Given the description of an element on the screen output the (x, y) to click on. 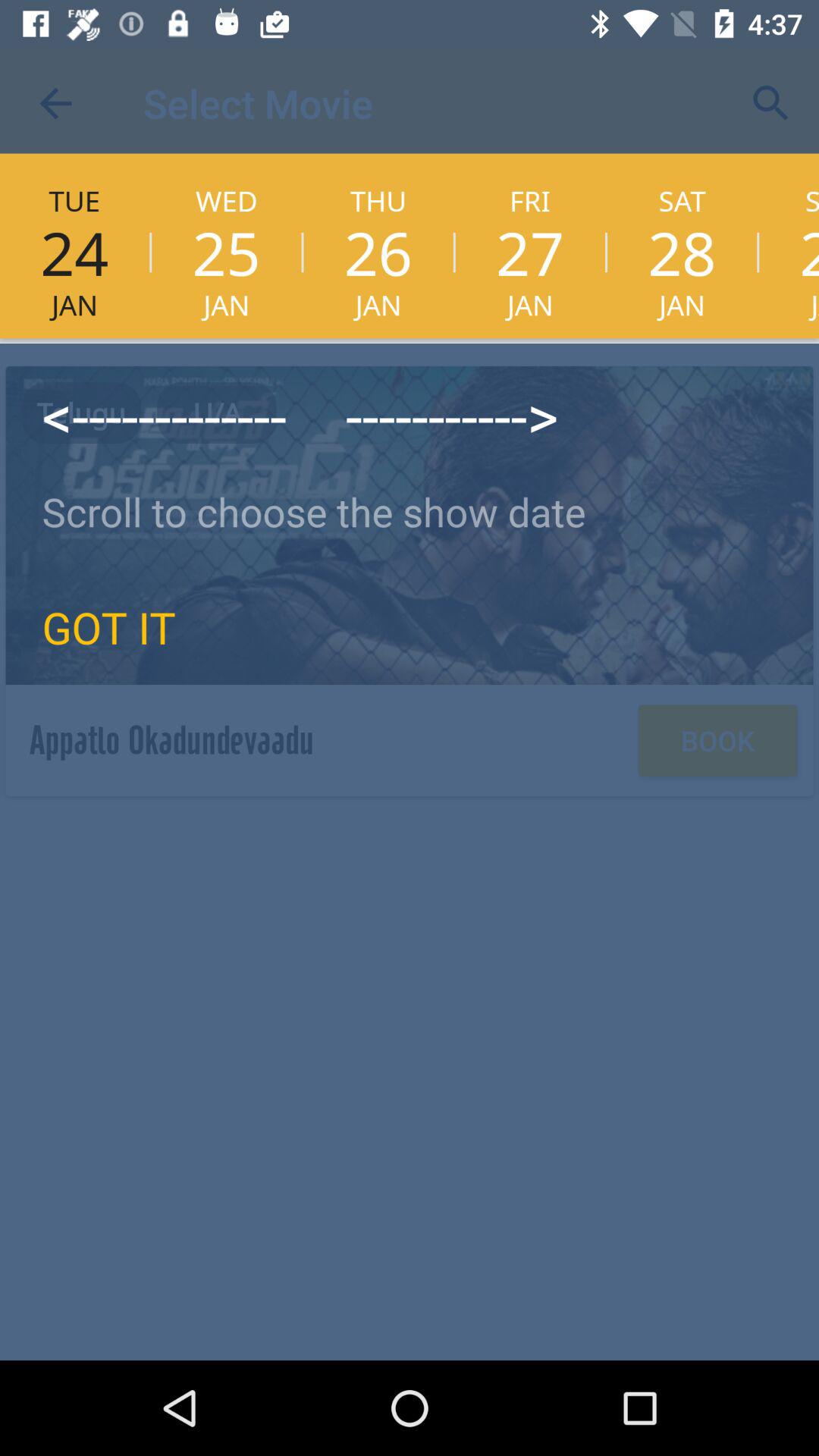
select icon above appatlo okadundevaadu item (108, 626)
